Given the description of an element on the screen output the (x, y) to click on. 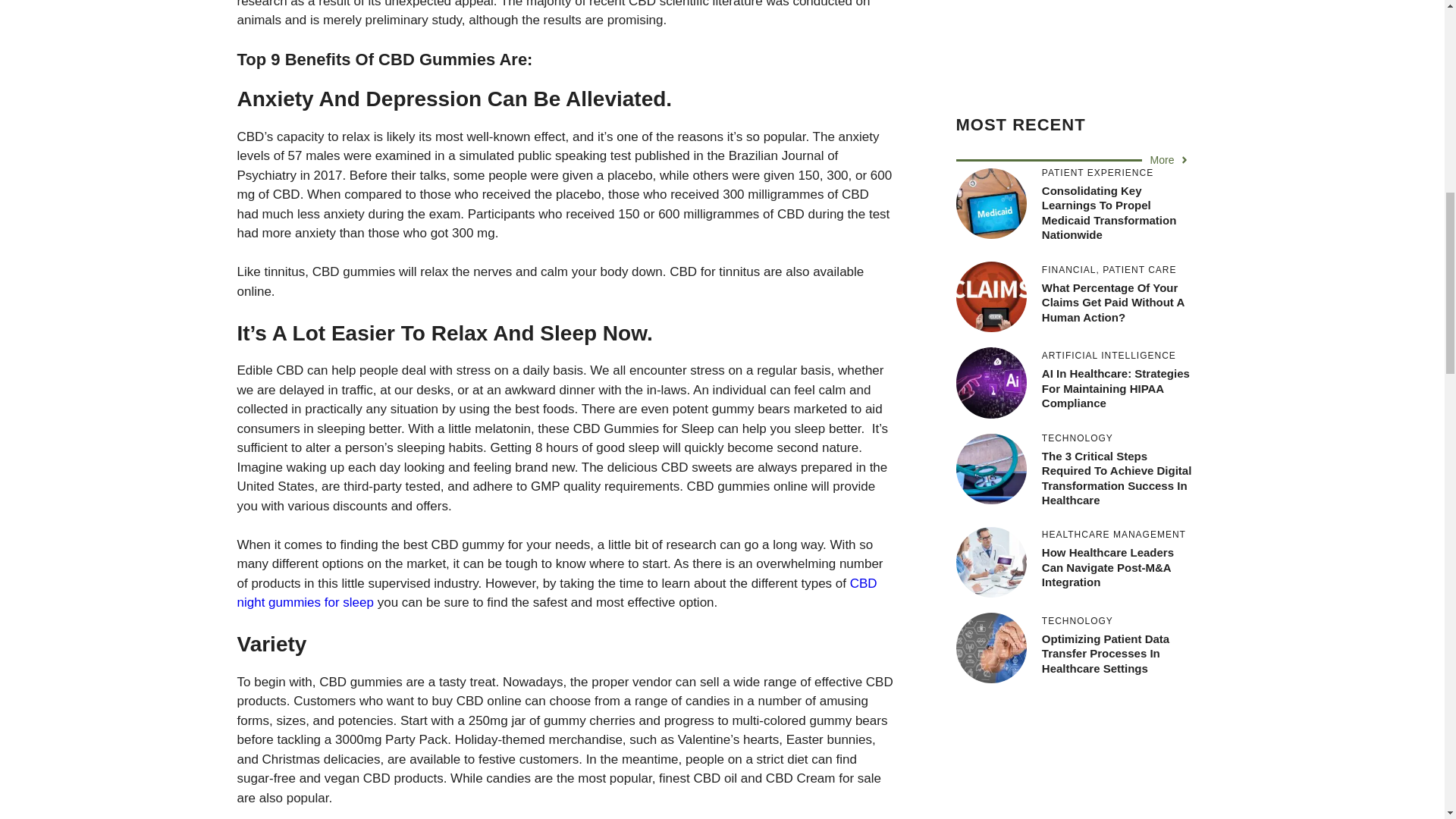
CBD night gummies for sleep (555, 593)
